Given the description of an element on the screen output the (x, y) to click on. 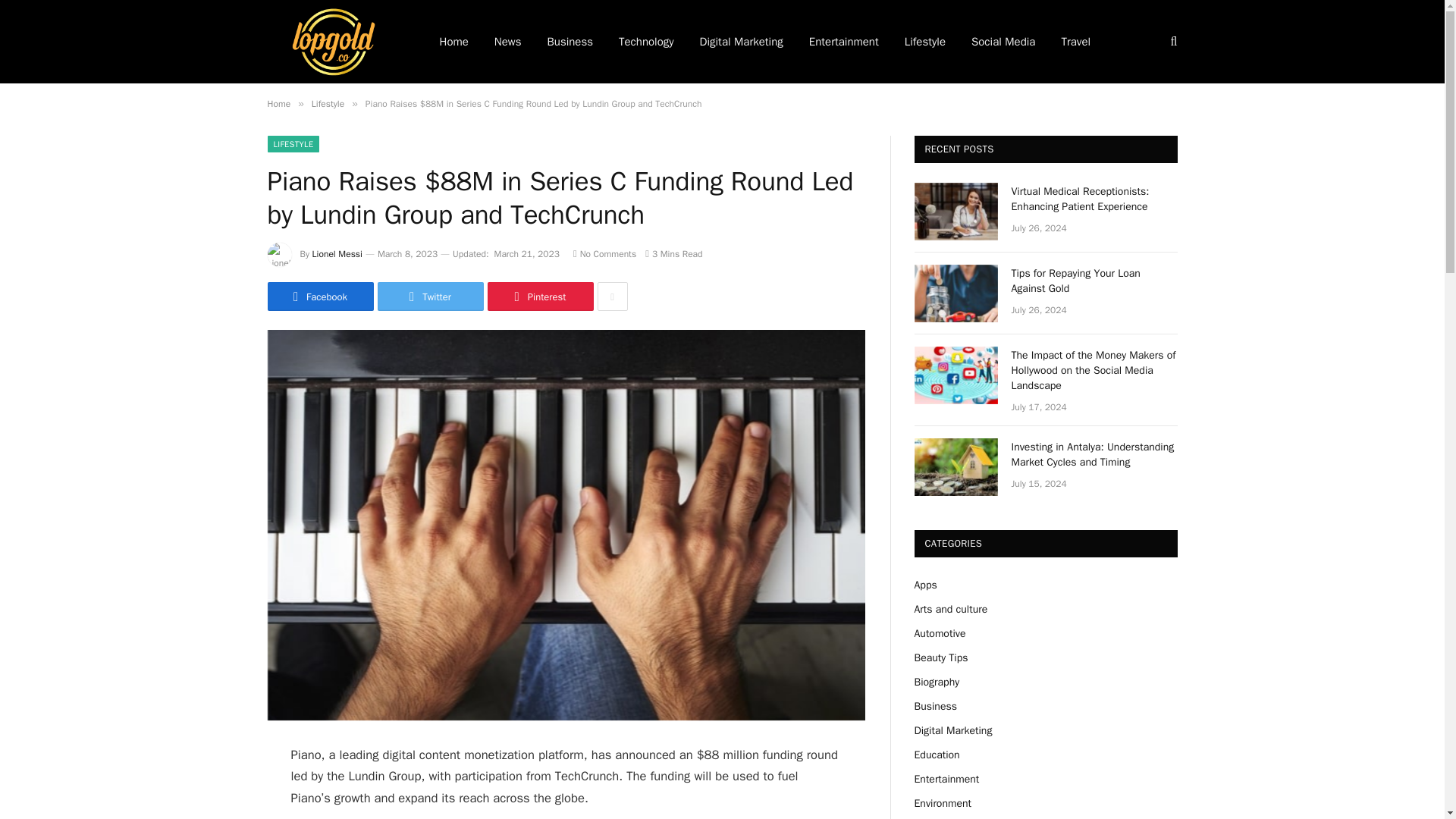
Lopgold.co (332, 41)
Entertainment (843, 41)
Lionel Messi (337, 254)
Business (570, 41)
Travel (1075, 41)
News (507, 41)
LIFESTYLE (292, 143)
Share on Pinterest (539, 296)
Search (1172, 41)
Show More Social Sharing (611, 296)
Home (277, 103)
Lifestyle (327, 103)
Home (453, 41)
No Comments (604, 254)
Twitter (430, 296)
